Given the description of an element on the screen output the (x, y) to click on. 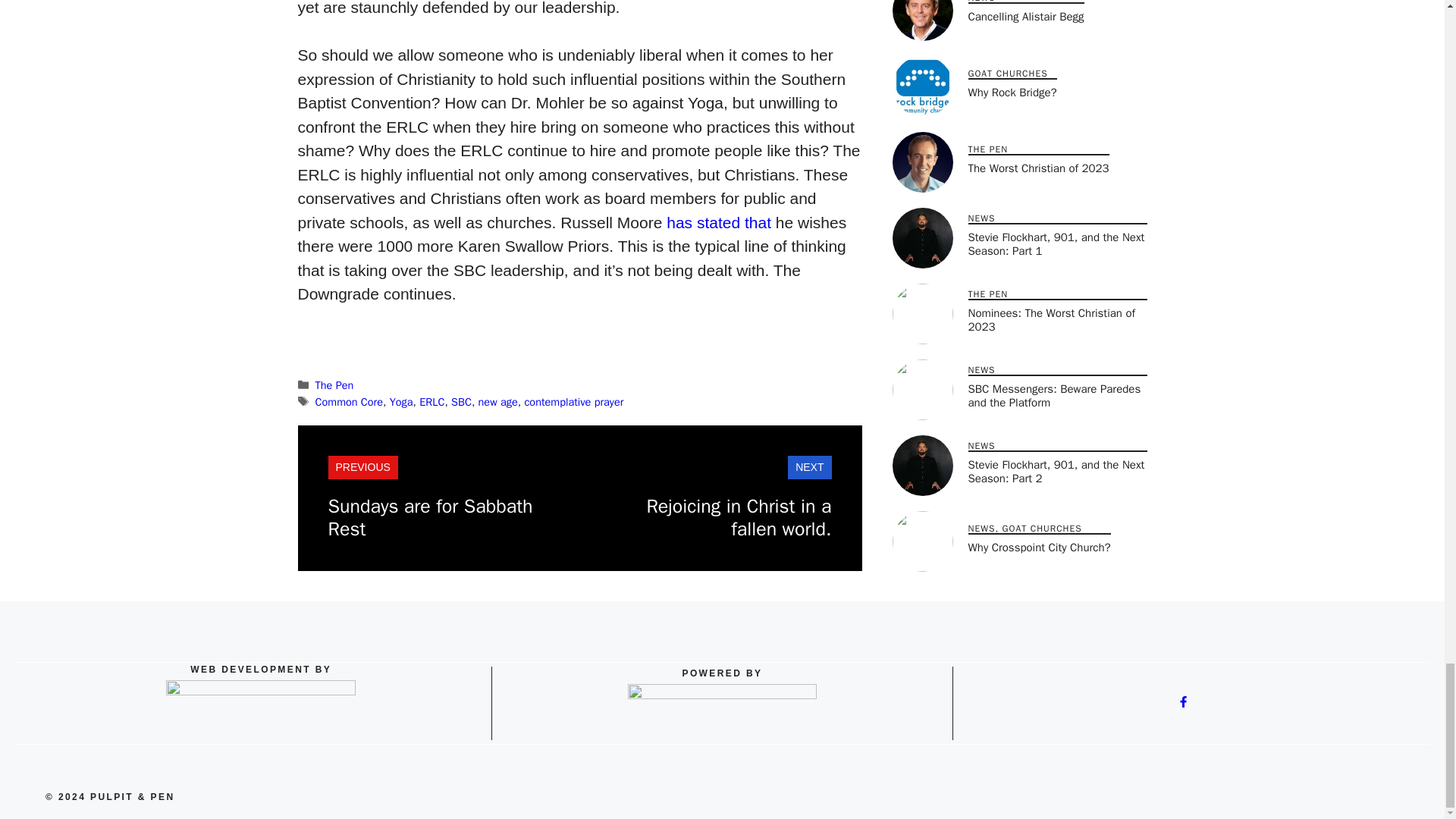
The Pen (334, 385)
Common Core (348, 401)
Yoga (401, 401)
ERLC (431, 401)
Website-Psychiatrist-Logo-300x108-1 (260, 711)
Reformed-Hosting-Logo-250x49-1 (721, 711)
has stated that (718, 221)
